Given the description of an element on the screen output the (x, y) to click on. 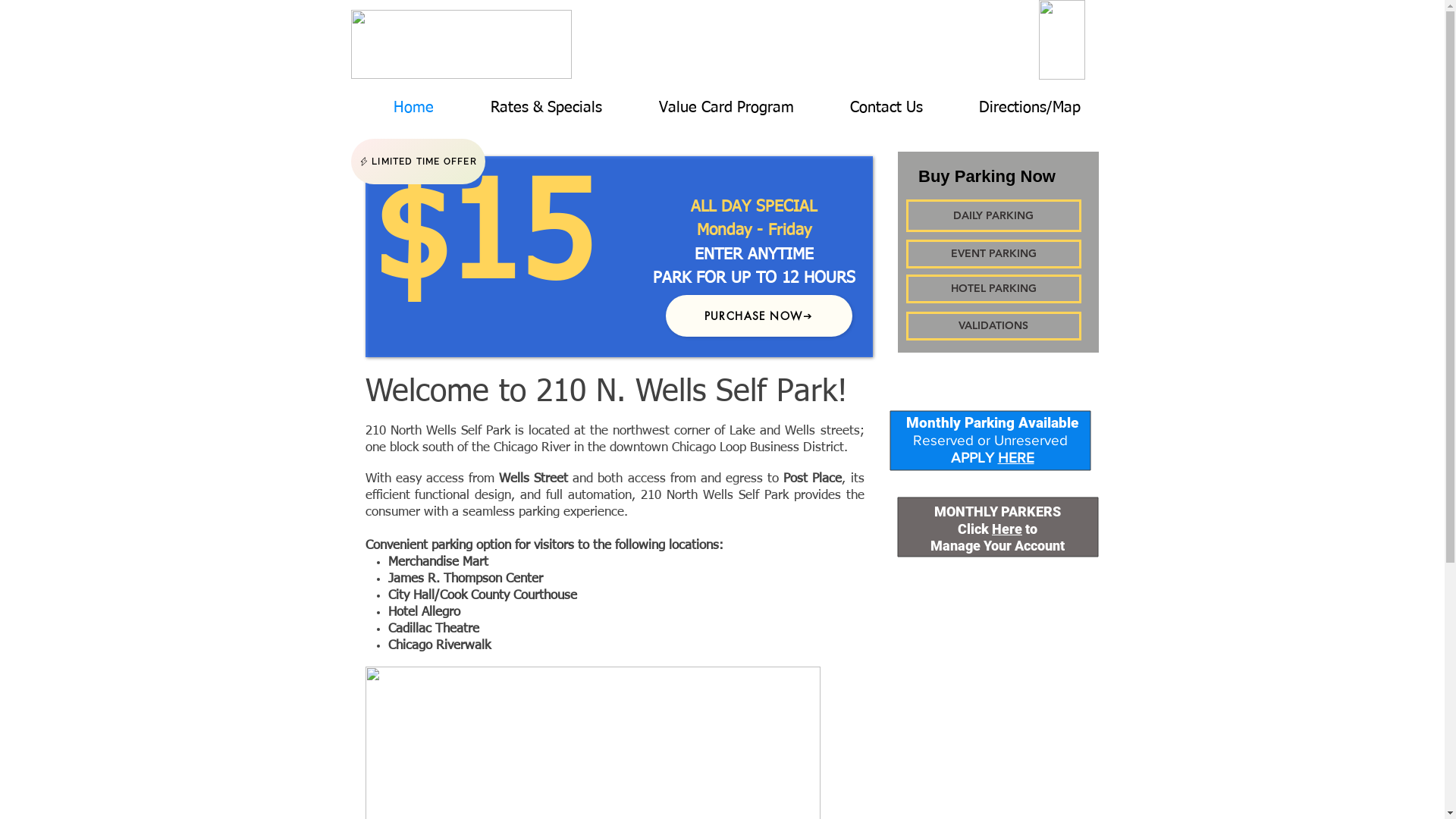
PURCHASE NOW Element type: text (758, 315)
HERE Element type: text (1015, 457)
Directions/Map Element type: text (1029, 107)
Home Element type: text (413, 107)
DAILY PARKING Element type: text (992, 215)
VALIDATIONS Element type: text (992, 325)
Rates & Specials Element type: text (546, 107)
Value Card Program Element type: text (726, 107)
LIMITED TIME OFFER Element type: text (417, 161)
Contact Us Element type: text (886, 107)
HOTEL PARKING Element type: text (992, 288)
EVENT PARKING Element type: text (992, 253)
Here Element type: text (1006, 528)
